Given the description of an element on the screen output the (x, y) to click on. 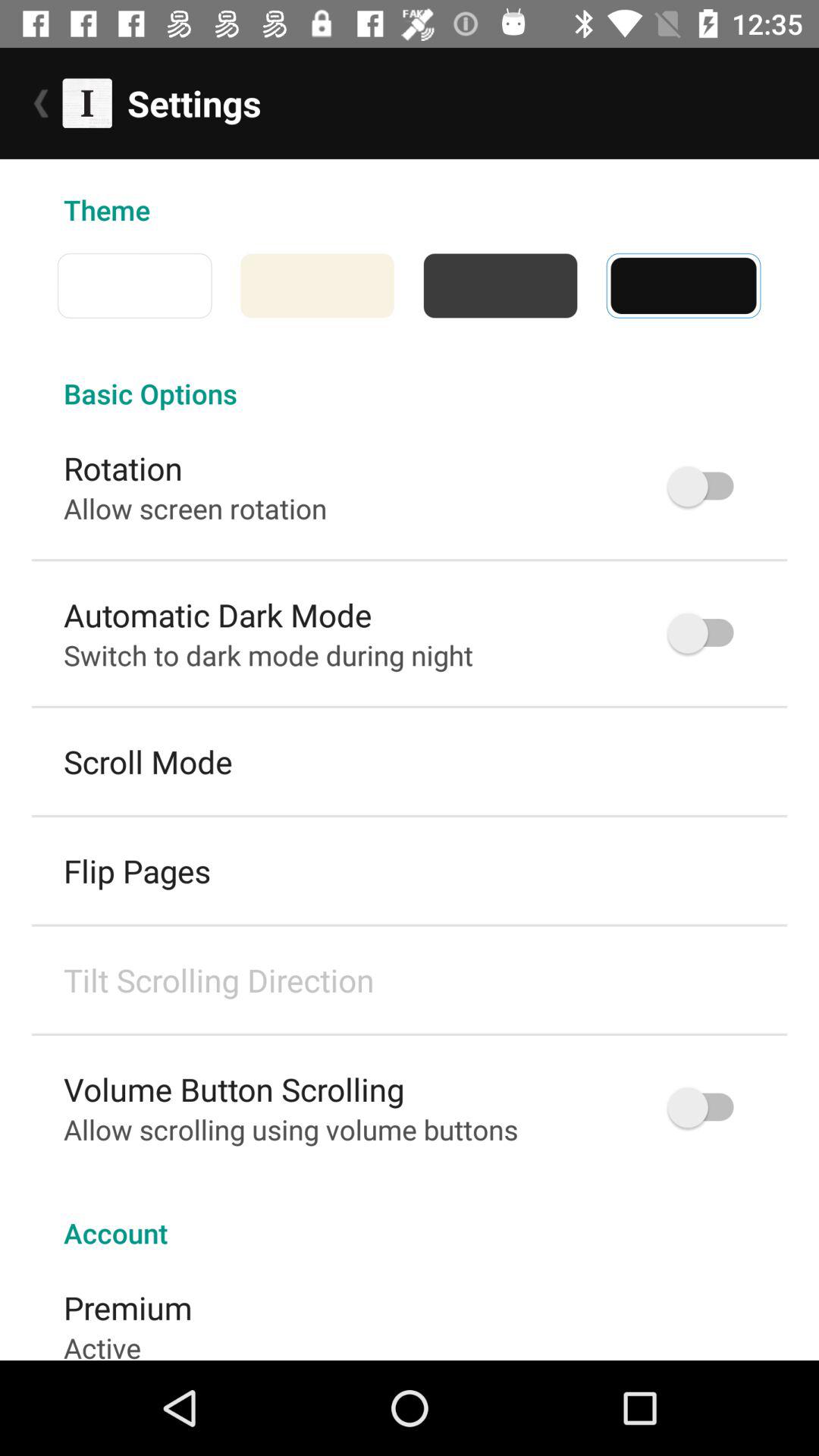
click item below automatic dark mode icon (268, 654)
